Given the description of an element on the screen output the (x, y) to click on. 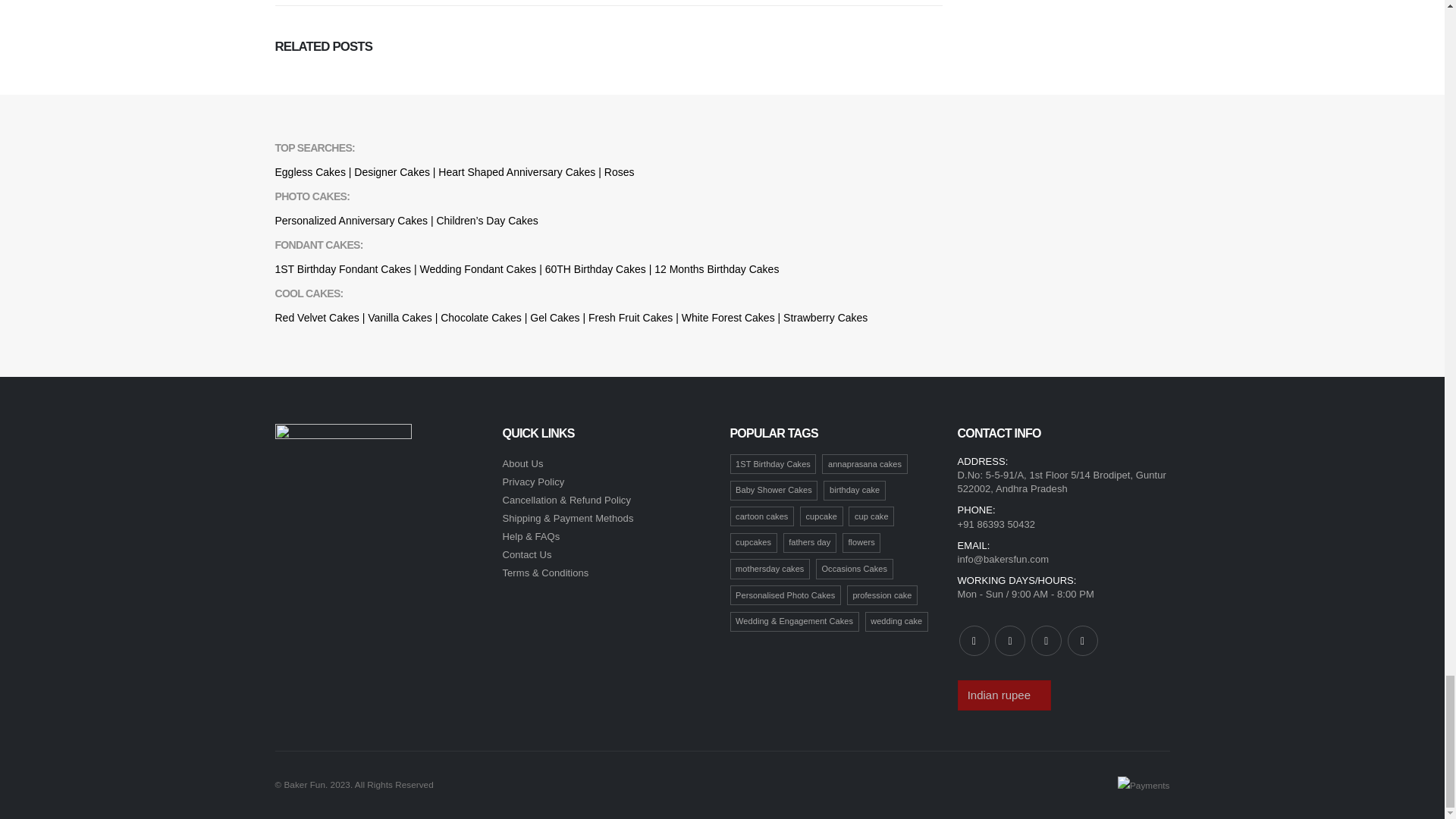
Facebook (973, 640)
Twitter (1009, 640)
Pinterest (1045, 640)
Instagram (1082, 640)
